Given the description of an element on the screen output the (x, y) to click on. 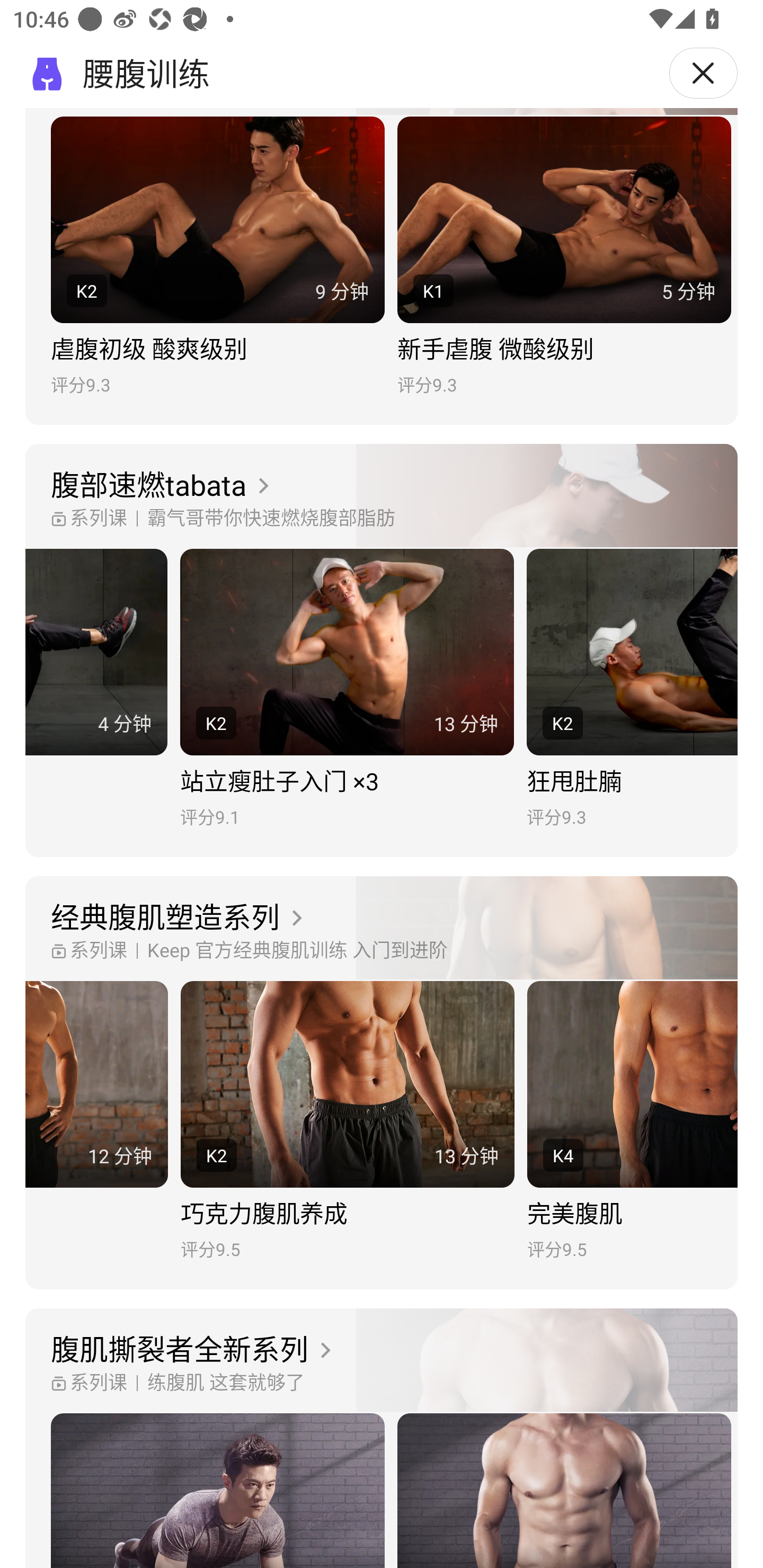
K2 9 分钟 虐腹初级 酸爽级别 评分9.3 (217, 256)
K1 5 分钟 新手虐腹 微酸级别 评分9.3 (563, 256)
腹部速燃tabata 系列课 霸气哥带你快速燃烧腹部脂肪 (381, 495)
K2 13 分钟 站立瘦肚子入门 ×3 评分9.1 (347, 687)
K2 狂甩肚腩 评分9.3 (631, 687)
经典腹肌塑造系列 系列课 Keep 官方经典腹肌训练 入门到进阶 (381, 928)
K2 13 分钟 巧克力腹肌养成 评分9.5 (347, 1120)
K4 完美腹肌 评分9.5 (632, 1120)
腹肌撕裂者全新系列 系列课 练腹肌 这套就够了 (381, 1359)
